Given the description of an element on the screen output the (x, y) to click on. 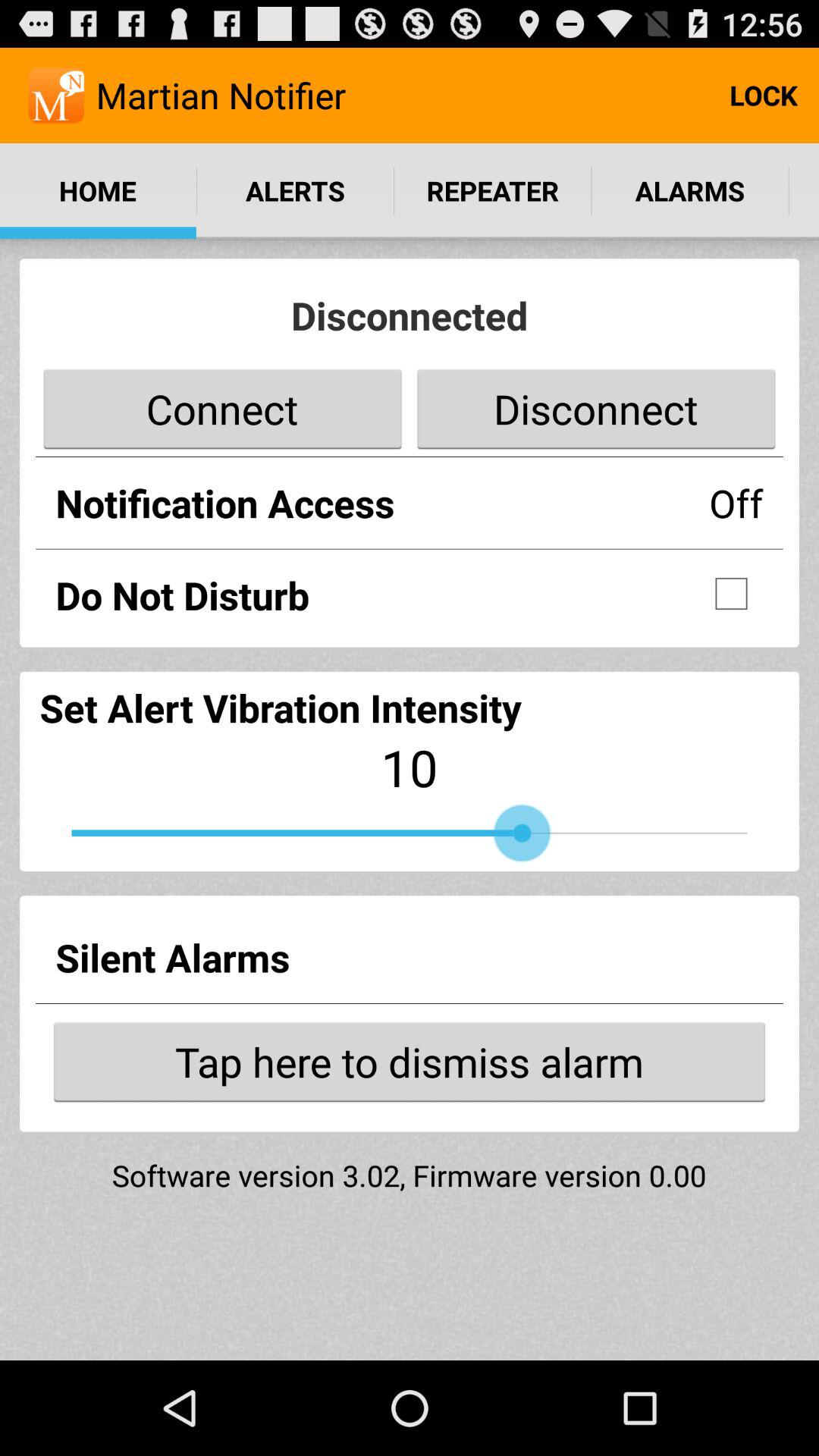
do not disturb checkbox (731, 593)
